Given the description of an element on the screen output the (x, y) to click on. 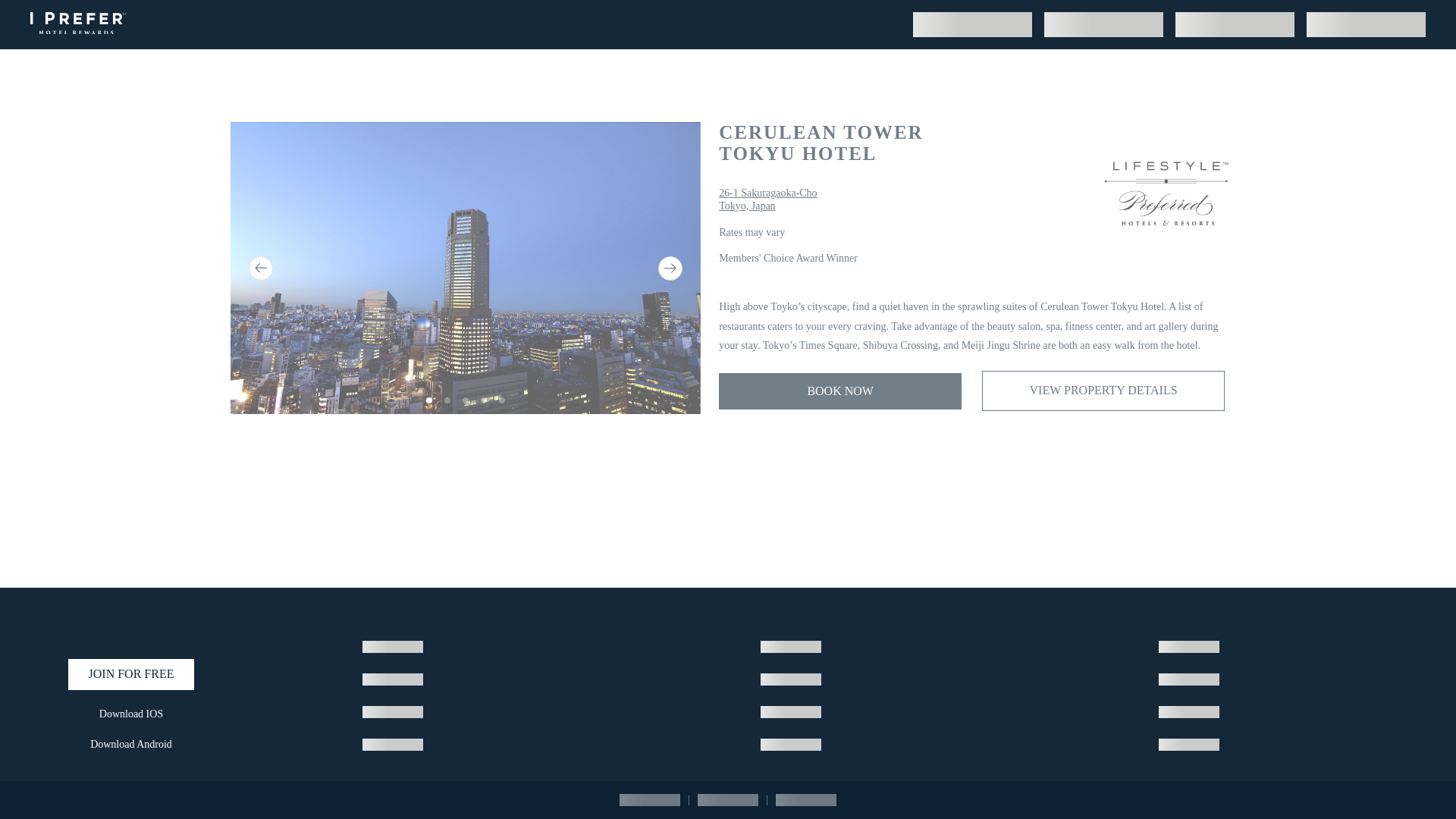
BOOK NOW (839, 391)
JOIN FOR FREE (130, 674)
VIEW PROPERTY DETAILS (767, 199)
SEARCH (1103, 391)
Download Android (953, 22)
VIEW PROPERTY DETAILS (130, 744)
Download IOS (1102, 391)
